Given the description of an element on the screen output the (x, y) to click on. 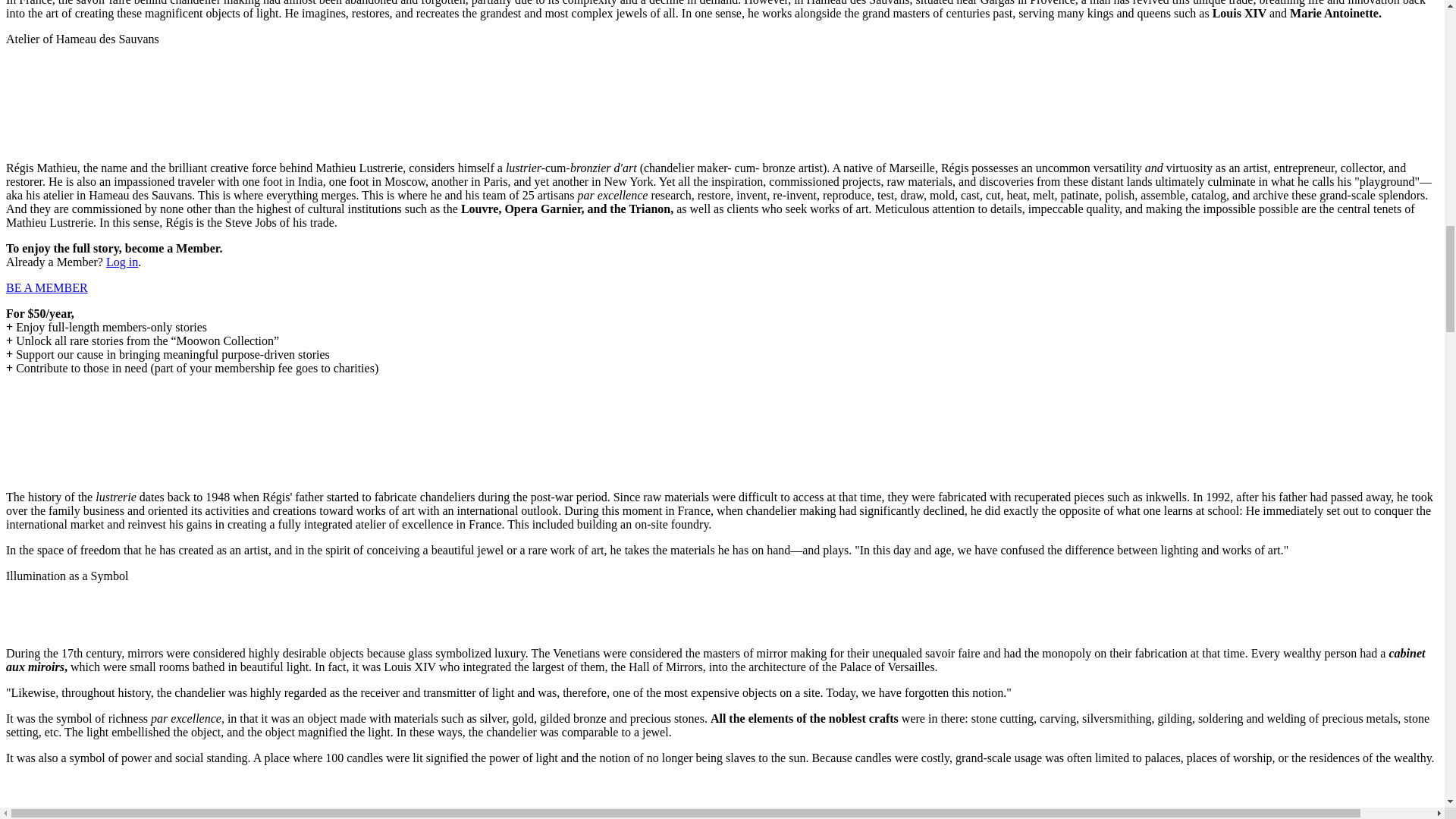
BE A MEMBER (46, 287)
Log in (122, 261)
